Given the description of an element on the screen output the (x, y) to click on. 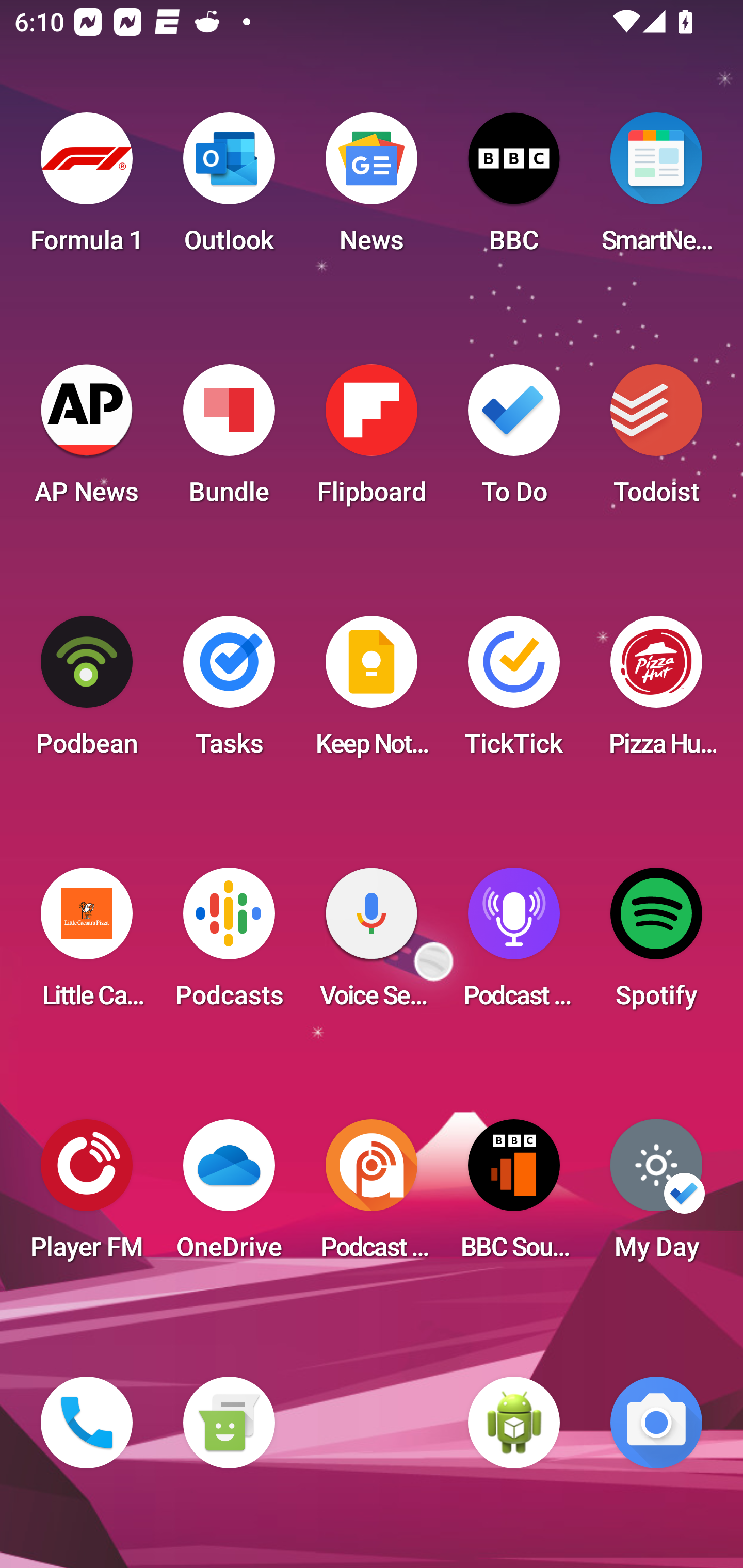
Formula 1 (86, 188)
Outlook (228, 188)
News (371, 188)
BBC (513, 188)
SmartNews (656, 188)
AP News (86, 440)
Bundle (228, 440)
Flipboard (371, 440)
To Do (513, 440)
Todoist (656, 440)
Podbean (86, 692)
Tasks (228, 692)
Keep Notes (371, 692)
TickTick (513, 692)
Pizza Hut HK & Macau (656, 692)
Little Caesars Pizza (86, 943)
Podcasts (228, 943)
Voice Search (371, 943)
Podcast Player (513, 943)
Spotify (656, 943)
Player FM (86, 1195)
OneDrive (228, 1195)
Podcast Addict (371, 1195)
BBC Sounds (513, 1195)
My Day (656, 1195)
Phone (86, 1422)
Messaging (228, 1422)
WebView Browser Tester (513, 1422)
Camera (656, 1422)
